Given the description of an element on the screen output the (x, y) to click on. 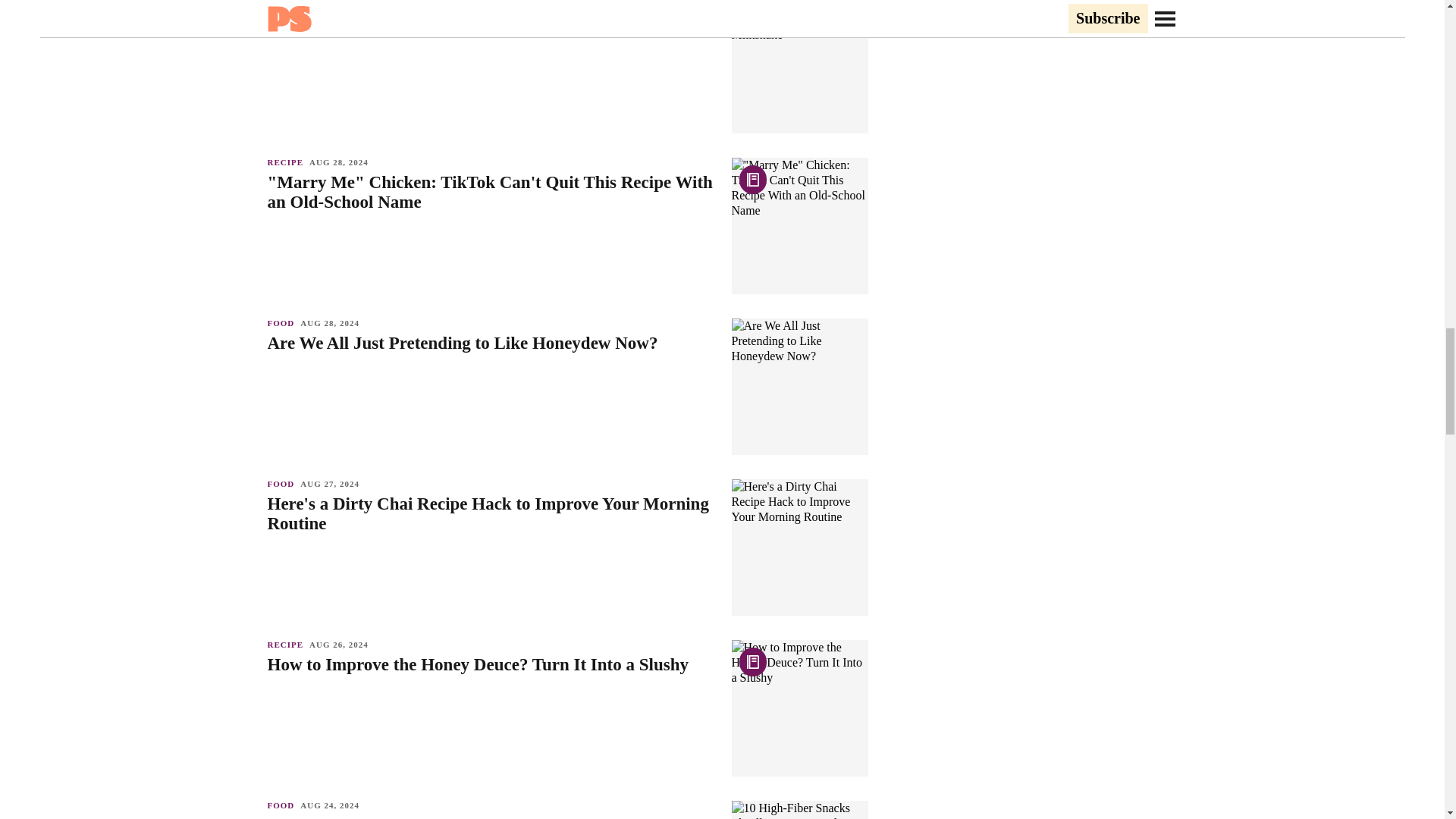
RECIPE (287, 2)
Are We All Just Pretending to Like Honeydew Now? (491, 342)
RECIPE (287, 162)
FOOD (282, 322)
RECIPE (287, 644)
How to Improve the Honey Deuce? Turn It Into a Slushy (491, 664)
FOOD (282, 483)
Need to Chill? Try This CBD-Infused Vanilla Milkshake (491, 21)
